Given the description of an element on the screen output the (x, y) to click on. 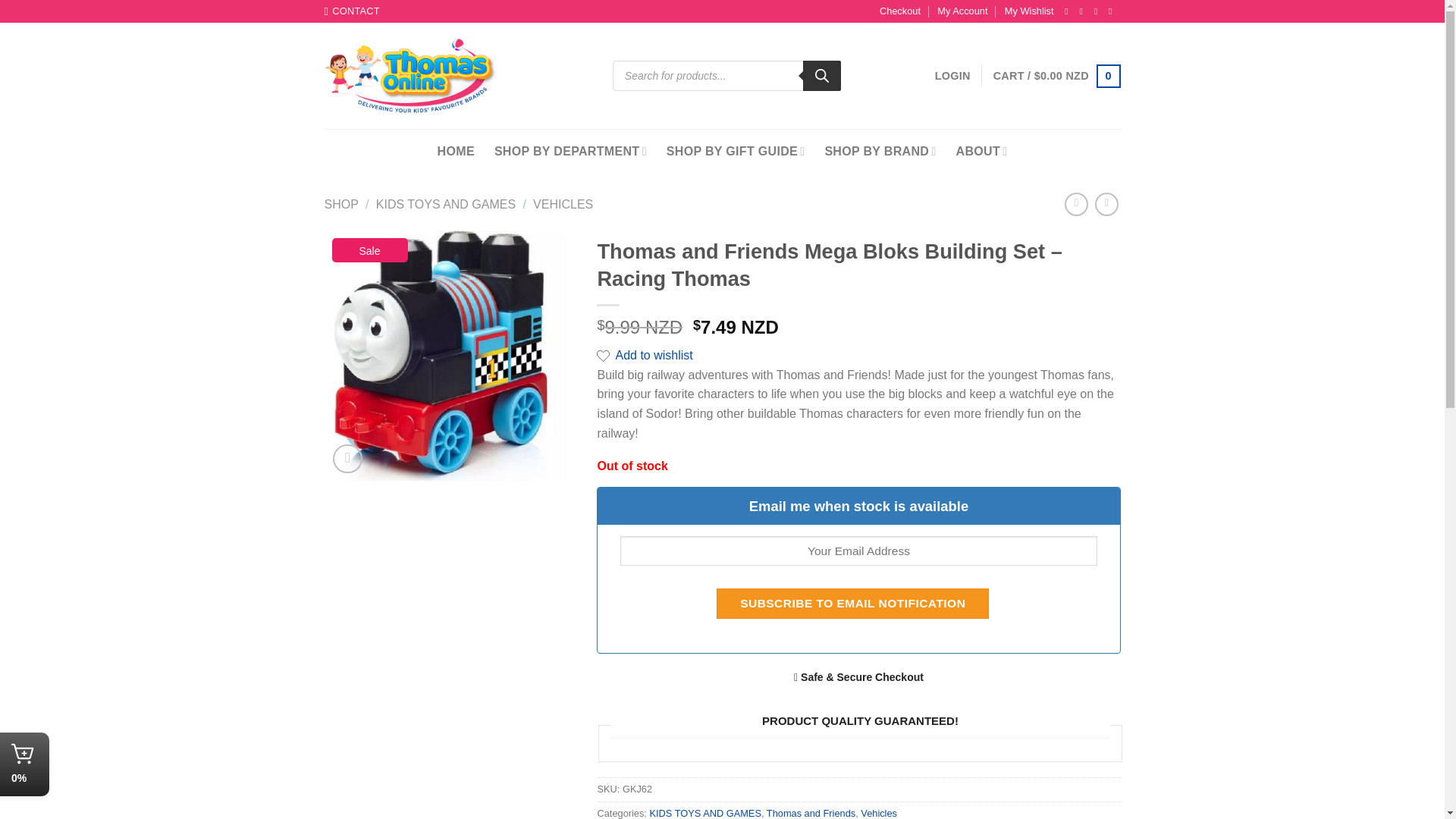
Follow on Instagram (1084, 10)
Follow on Facebook (1069, 10)
LOGIN (952, 75)
SHOP BY DEPARTMENT (570, 150)
Checkout (899, 11)
Follow on Pinterest (1113, 10)
CONTACT (352, 11)
My Account (962, 11)
Subscribe to email notification (852, 603)
Cart (1056, 75)
My Wishlist (1029, 11)
HOME (456, 150)
Thomas And Friends Mega Bloks Building Set - Racing Thomas 3 (449, 355)
Send us an email (1098, 10)
